Given the description of an element on the screen output the (x, y) to click on. 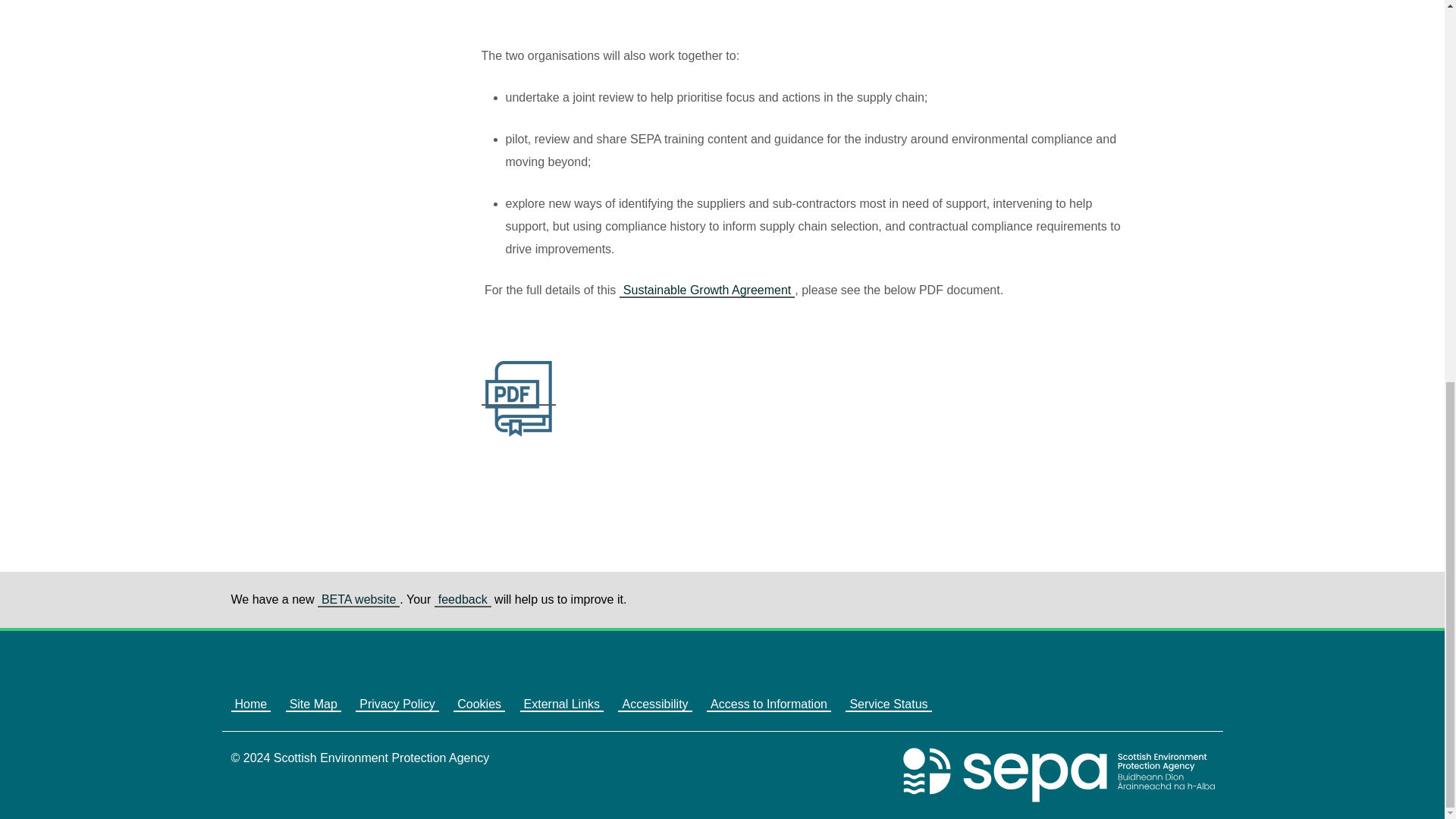
Sustainable Growth Agreements (707, 290)
Return to the homepage (1059, 774)
Provide us feedback about our new website (462, 599)
